Given the description of an element on the screen output the (x, y) to click on. 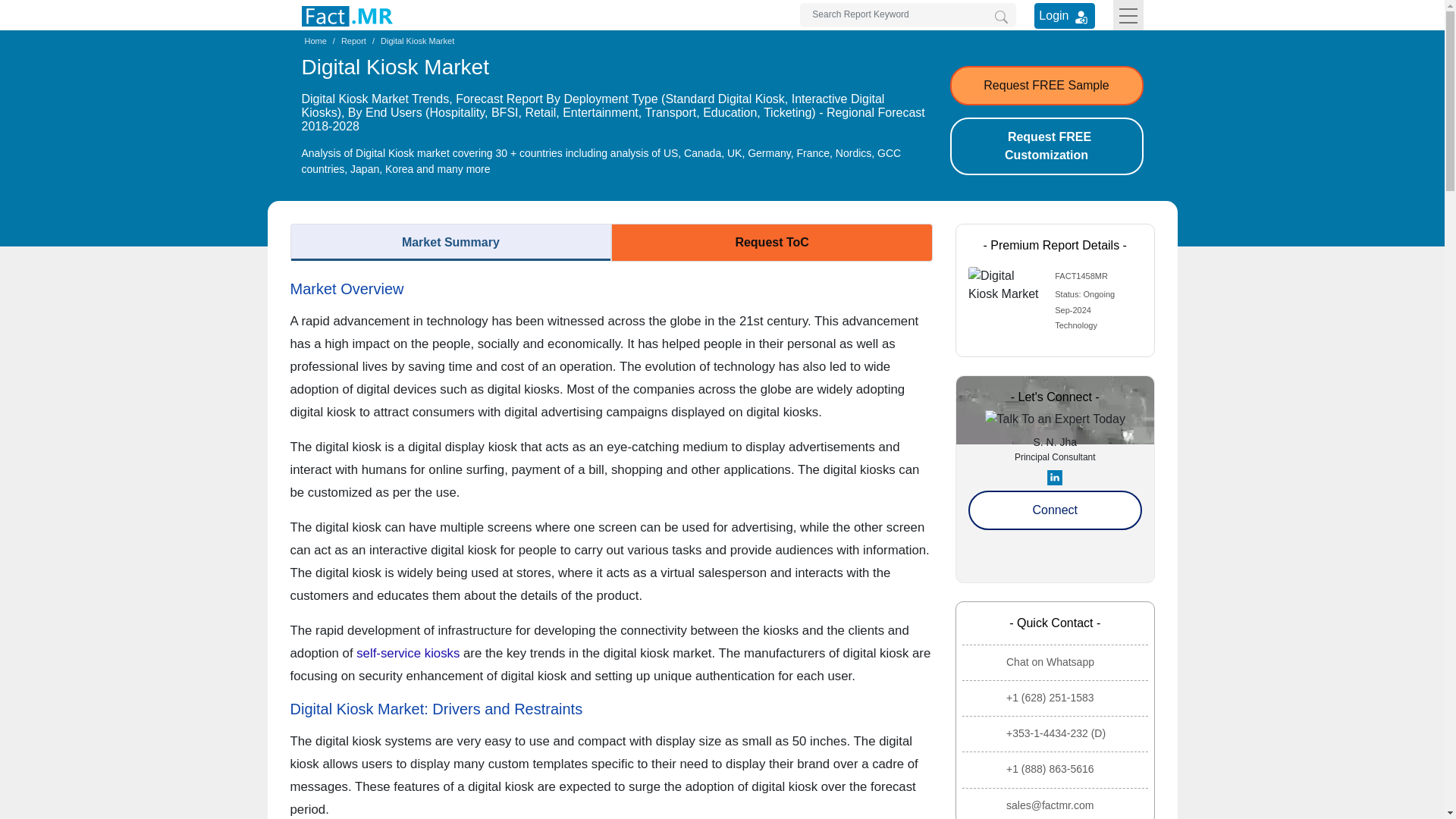
Report (353, 40)
Search (1001, 16)
Technology (1075, 325)
Fact.MR, Market Research Company (347, 15)
Request FREE Customization (1045, 146)
Connect (1054, 509)
Chat on Whatsapp (1057, 662)
Request ToC (772, 242)
Market Summary (450, 242)
Login (1063, 15)
self-service kiosks (408, 653)
Fact.MR, Market Research Company (347, 16)
Request FREE Sample (1045, 85)
Login (1080, 17)
Login (1063, 15)
